Given the description of an element on the screen output the (x, y) to click on. 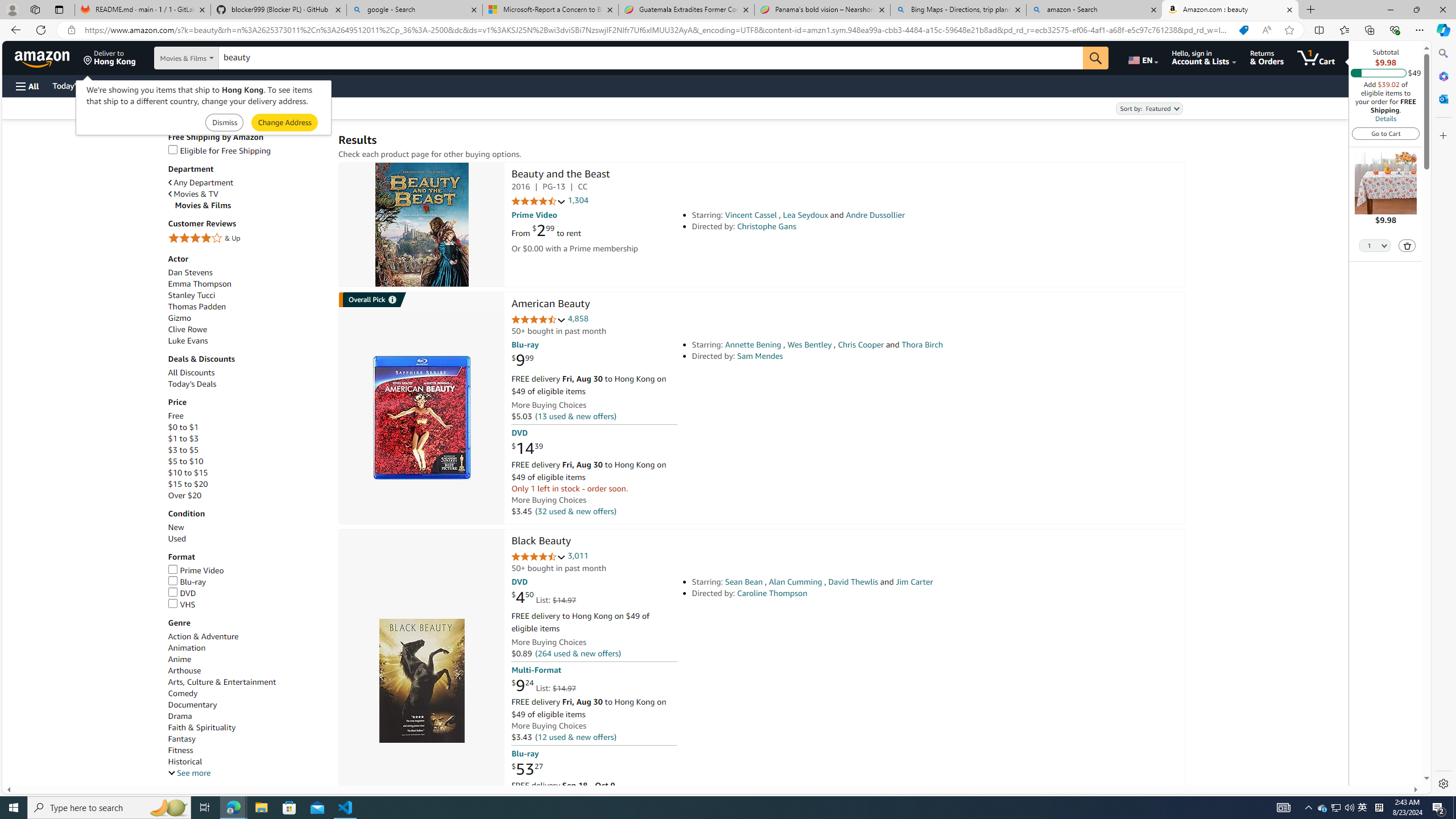
(32 used & new offers) (574, 511)
$4.50 List: $14.97 (543, 597)
Dan Stevens (247, 272)
Thomas Padden (247, 307)
Search in (210, 58)
Prime Video (247, 570)
Vincent Cassel (751, 214)
Hello, sign in Account & Lists (1203, 57)
1 item in cart (1315, 57)
Prime Video (195, 570)
Annette Bening (753, 344)
Used (247, 538)
